Given the description of an element on the screen output the (x, y) to click on. 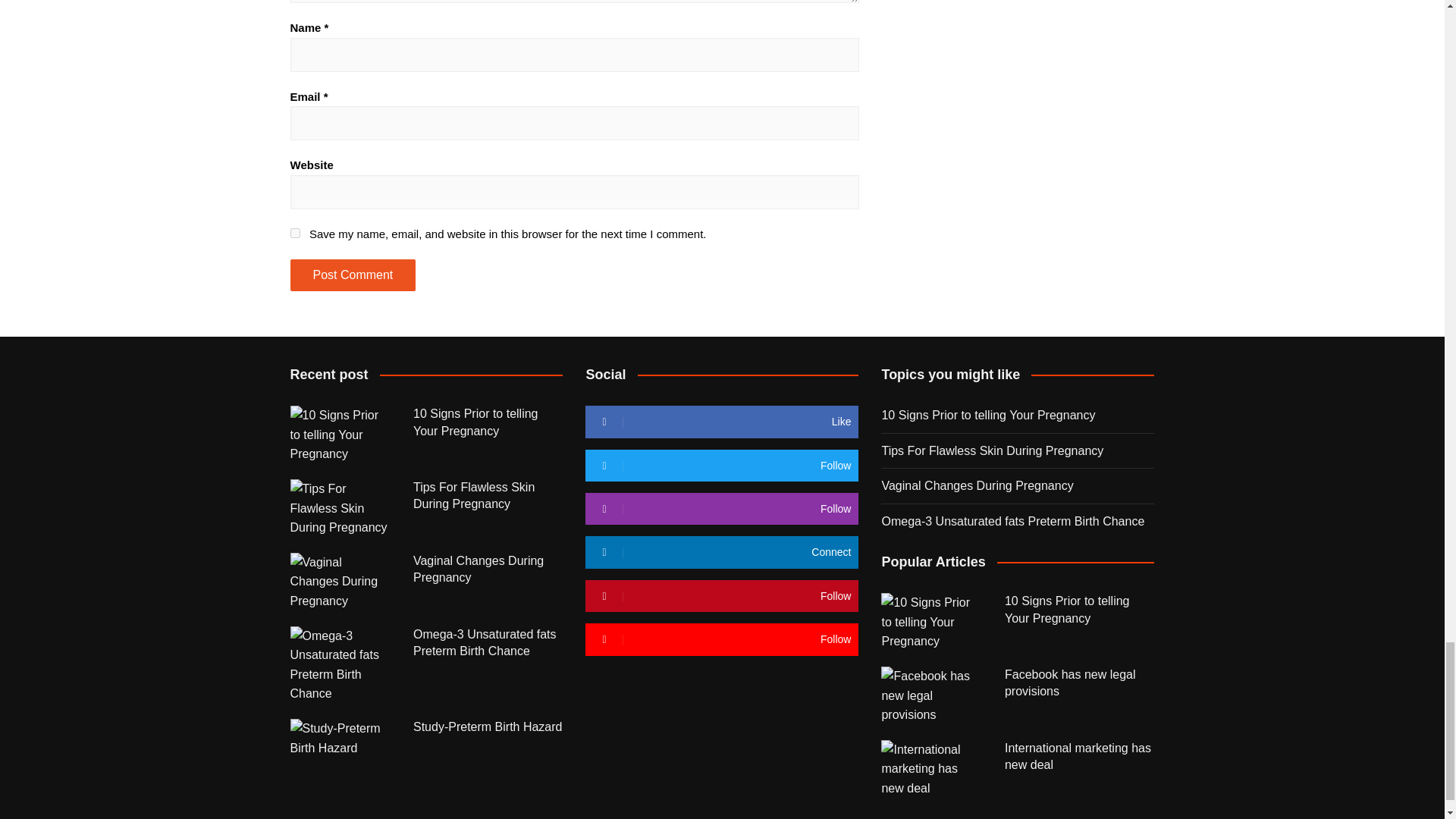
10 Signs Prior to telling Your Pregnancy (930, 621)
Tips For Flawless Skin During Pregnancy (339, 508)
yes (294, 233)
Post Comment (351, 275)
Study-Preterm Birth Hazard (339, 738)
10 Signs Prior to telling Your Pregnancy (339, 434)
Vaginal Changes During Pregnancy (339, 581)
Omega-3 Unsaturated fats Preterm Birth Chance (339, 664)
